Given the description of an element on the screen output the (x, y) to click on. 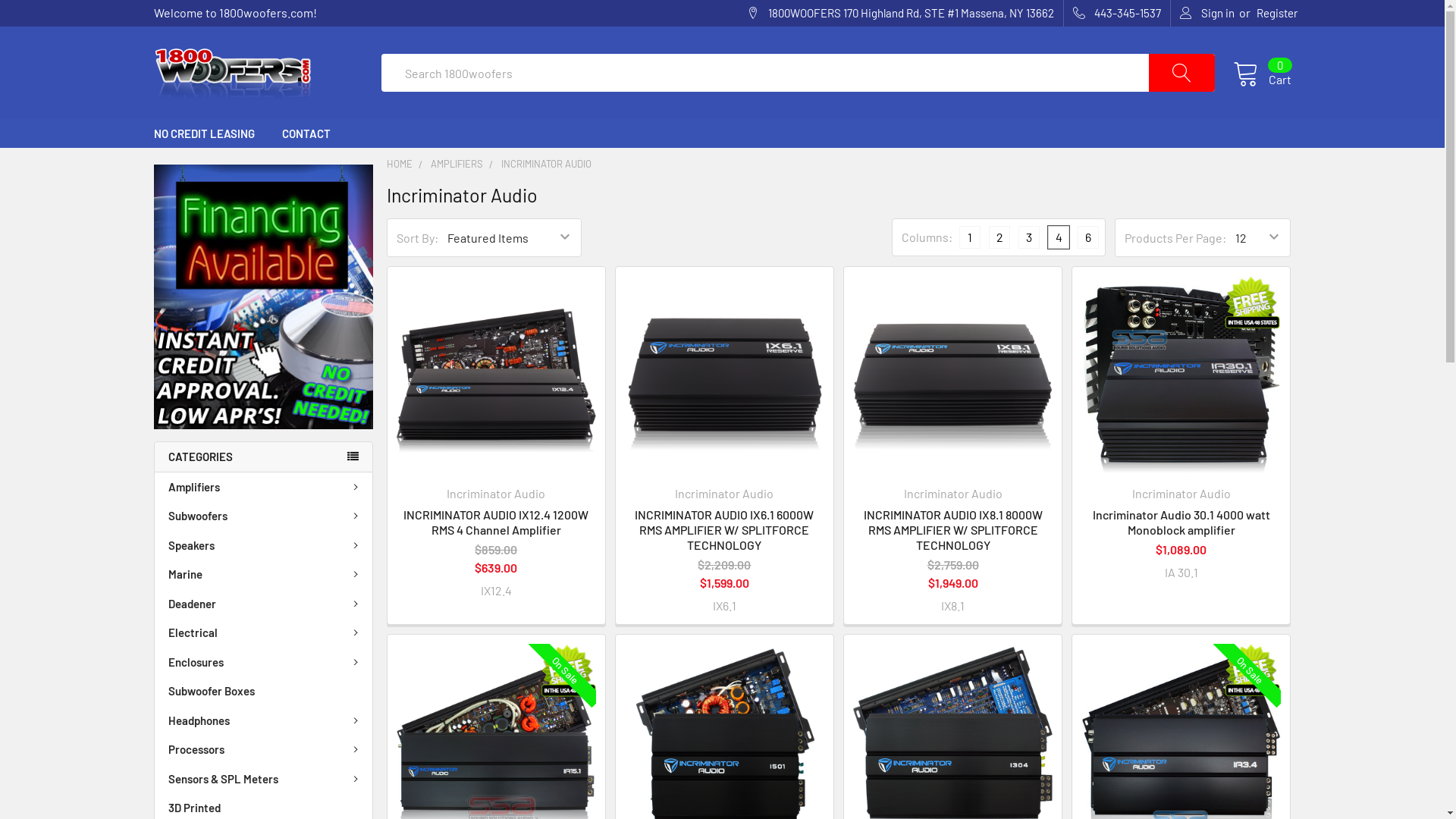
Incriminator Audio 30.1 4000 watt Monoblock amplifier Element type: text (1181, 521)
Processors Element type: text (263, 749)
INCRIMINATOR AUDIO Element type: text (546, 163)
Amplifiers Element type: text (263, 487)
443-345-1537 Element type: text (1116, 13)
Electrical Element type: text (263, 632)
AMPLIFIERS Element type: text (456, 163)
Register Element type: text (1275, 13)
Subwoofer Boxes Element type: text (263, 691)
INCRIMINATOR AUDIO IX12.4 1200W RMS 4 Channel Amplifier Element type: text (495, 521)
NO CREDIT LEASING Element type: text (203, 132)
INCRIMINATOR AUDIO IX12.4 1200W RMS 4 Channel Amplifier Element type: hover (496, 375)
Search Element type: text (1191, 72)
Incriminator Audio 30.1 4000 watt Monoblock amplifier Element type: hover (1180, 375)
Speakers Element type: text (263, 545)
Deadener Element type: text (263, 603)
Enclosures Element type: text (263, 662)
Headphones Element type: text (263, 720)
Sensors & SPL Meters Element type: text (263, 778)
Cart
0 Element type: text (1262, 72)
Subwoofers Element type: text (263, 515)
CATEGORIES Element type: text (262, 456)
1800woofers.com Element type: hover (231, 72)
HOME Element type: text (399, 163)
Marine Element type: text (263, 574)
CONTACT Element type: text (306, 132)
No Credit Needed, Just a Click Away! Element type: hover (262, 296)
Sign in Element type: text (1206, 13)
